Given the description of an element on the screen output the (x, y) to click on. 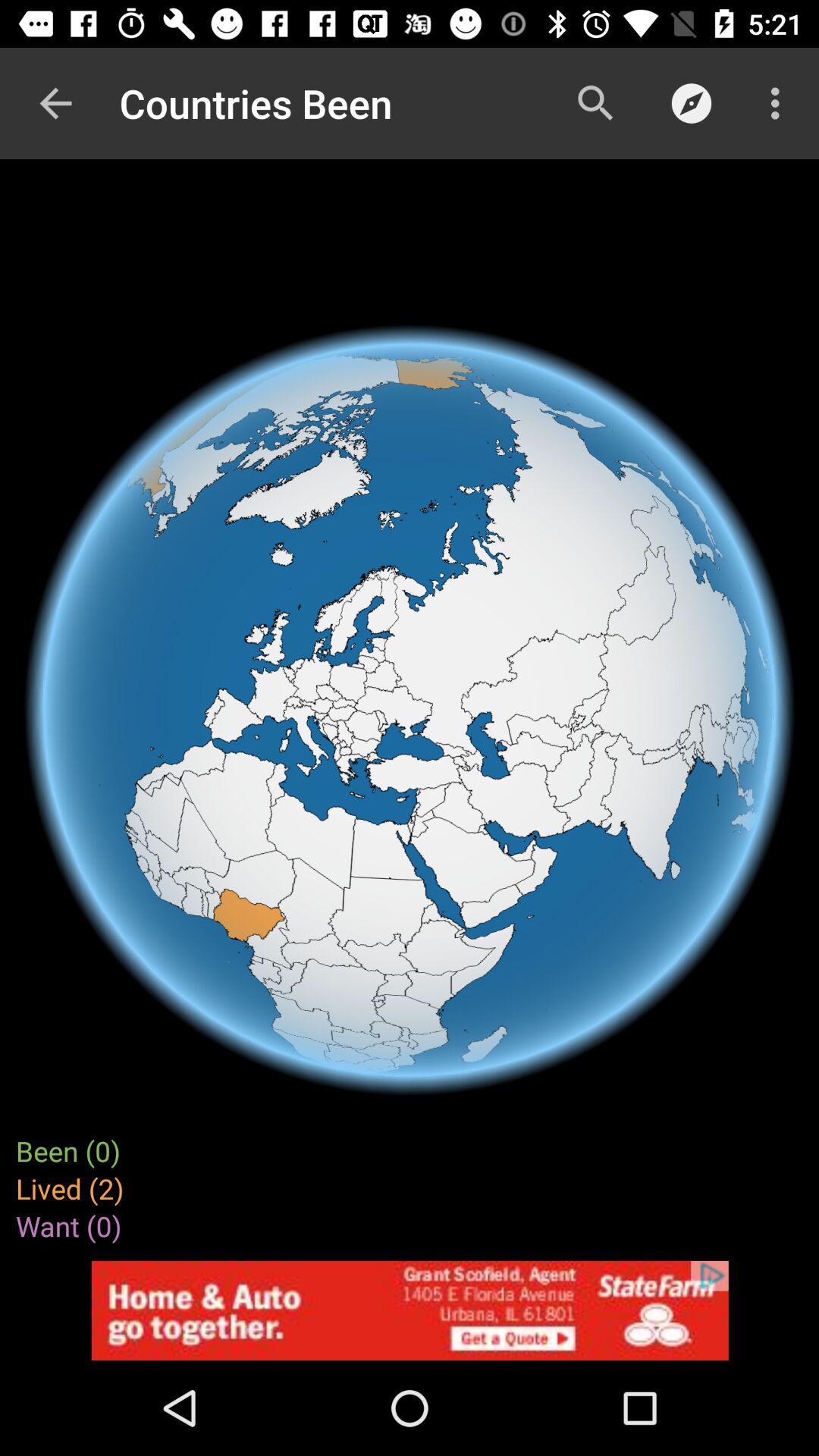
opens the advertisement (409, 1310)
